Given the description of an element on the screen output the (x, y) to click on. 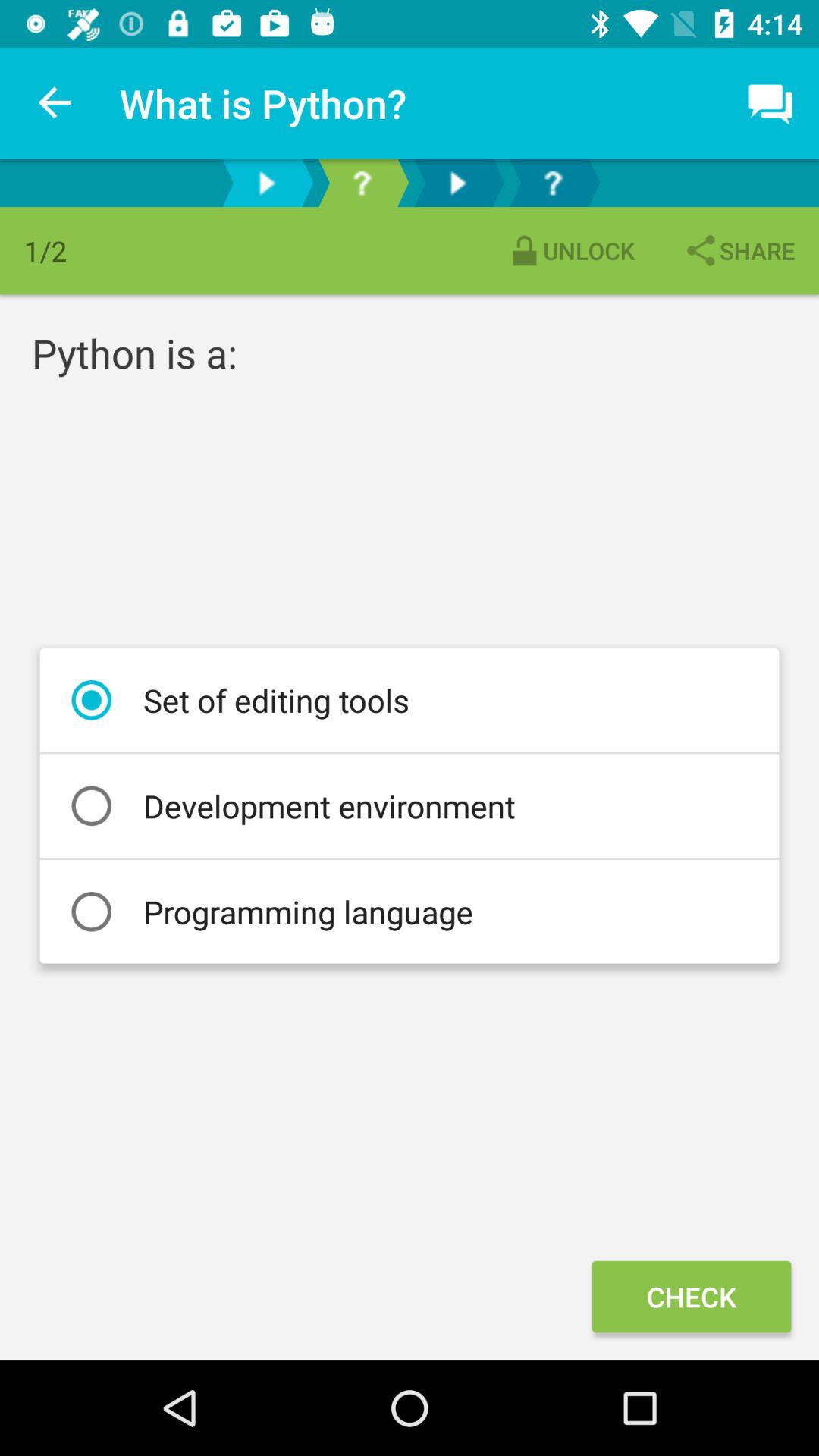
turn on the unlock icon (570, 250)
